Given the description of an element on the screen output the (x, y) to click on. 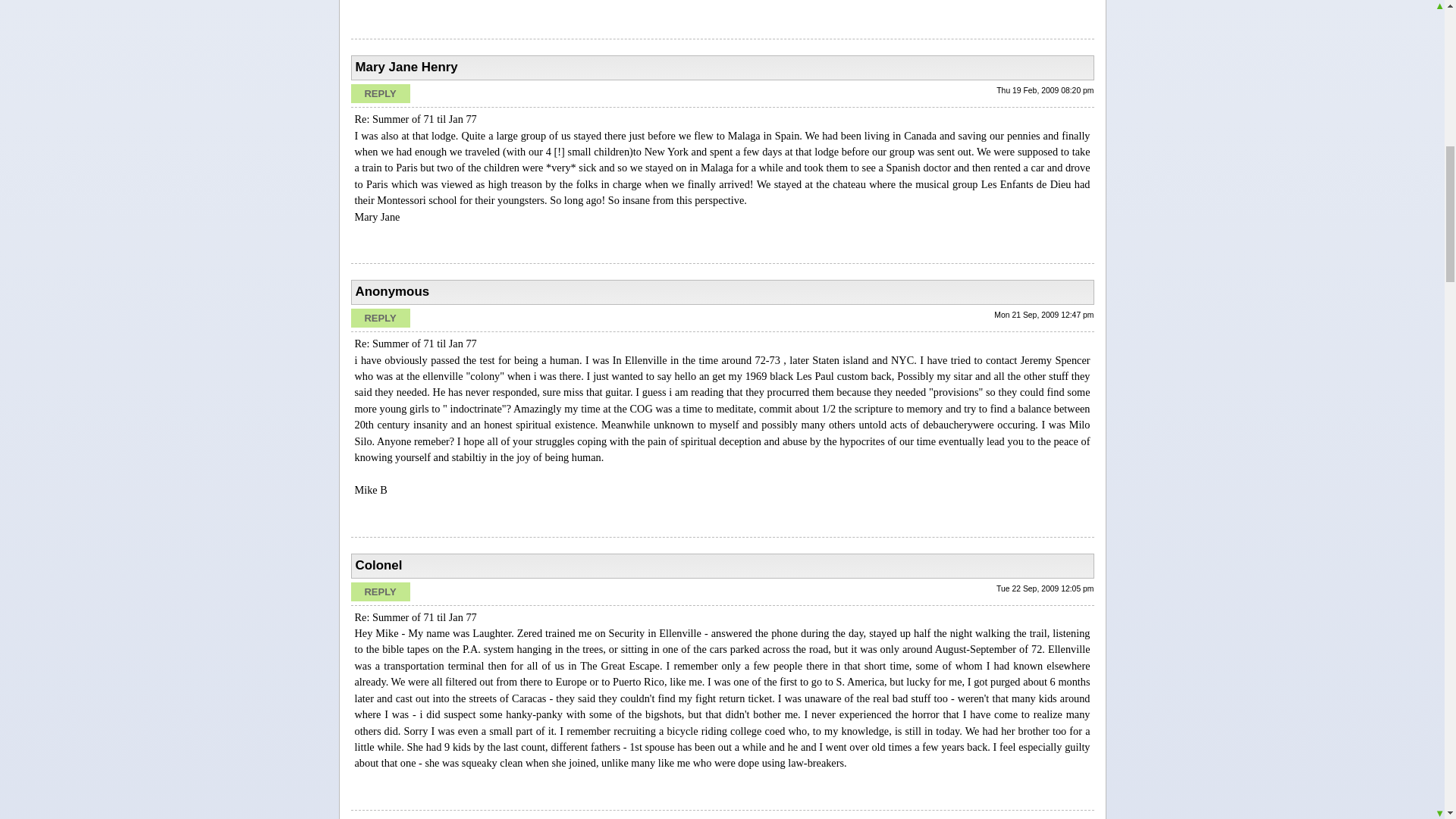
REPLY (379, 591)
Reply (379, 93)
REPLY (379, 317)
REPLY (379, 93)
Reply (379, 317)
